Given the description of an element on the screen output the (x, y) to click on. 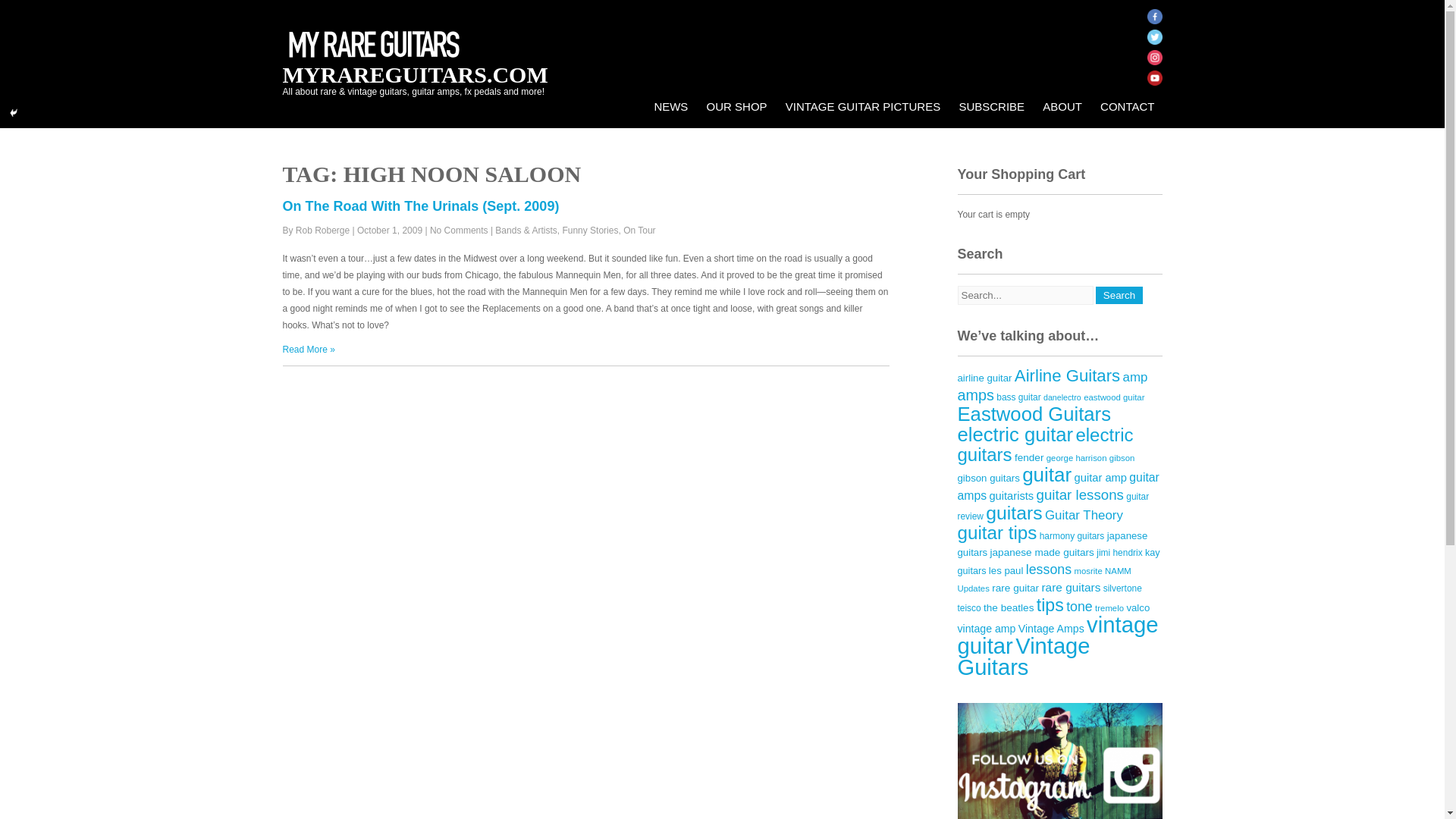
MYRAREGUITARS.COM (414, 74)
Funny Stories (589, 230)
OUR SHOP (736, 106)
SUBSCRIBE (991, 106)
Hide (13, 112)
Search (1119, 294)
CONTACT (1127, 106)
ABOUT (1062, 106)
On Tour (639, 230)
VINTAGE GUITAR PICTURES (862, 106)
